Given the description of an element on the screen output the (x, y) to click on. 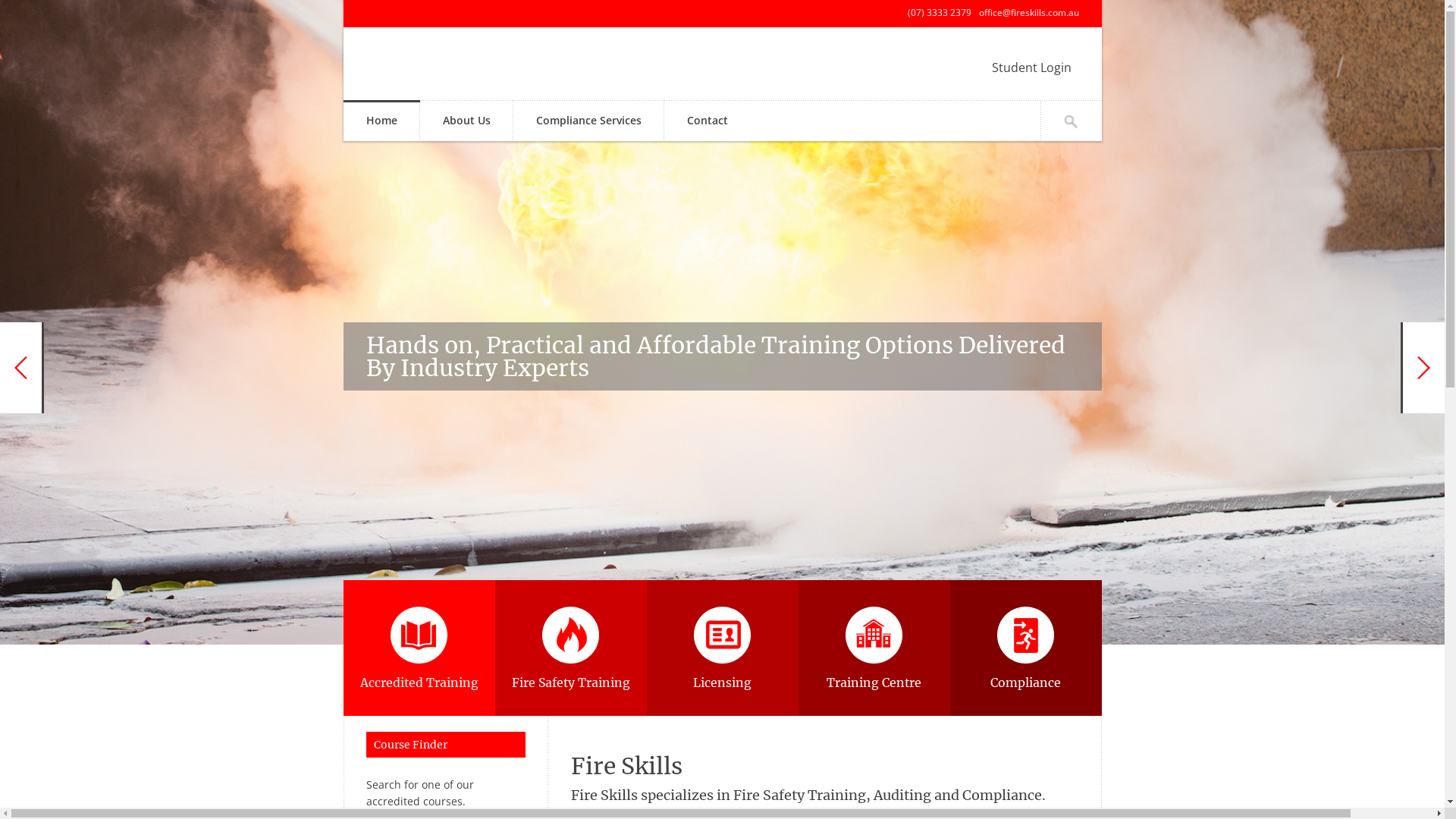
About Us Element type: text (466, 121)
Student Login Element type: text (1031, 67)
Accredited Training Element type: text (418, 647)
Fire Safety Training Element type: text (570, 647)
Next Element type: text (1422, 367)
Licensing Element type: text (721, 647)
Previous Element type: text (21, 367)
Contact Element type: text (707, 121)
Compliance Element type: text (1025, 647)
Compliance Services Element type: text (587, 121)
(07) 3333 2379 Element type: text (938, 12)
Training Centre Element type: text (873, 647)
office@fireskills.com.au Element type: text (1028, 12)
Home Element type: text (380, 121)
